Given the description of an element on the screen output the (x, y) to click on. 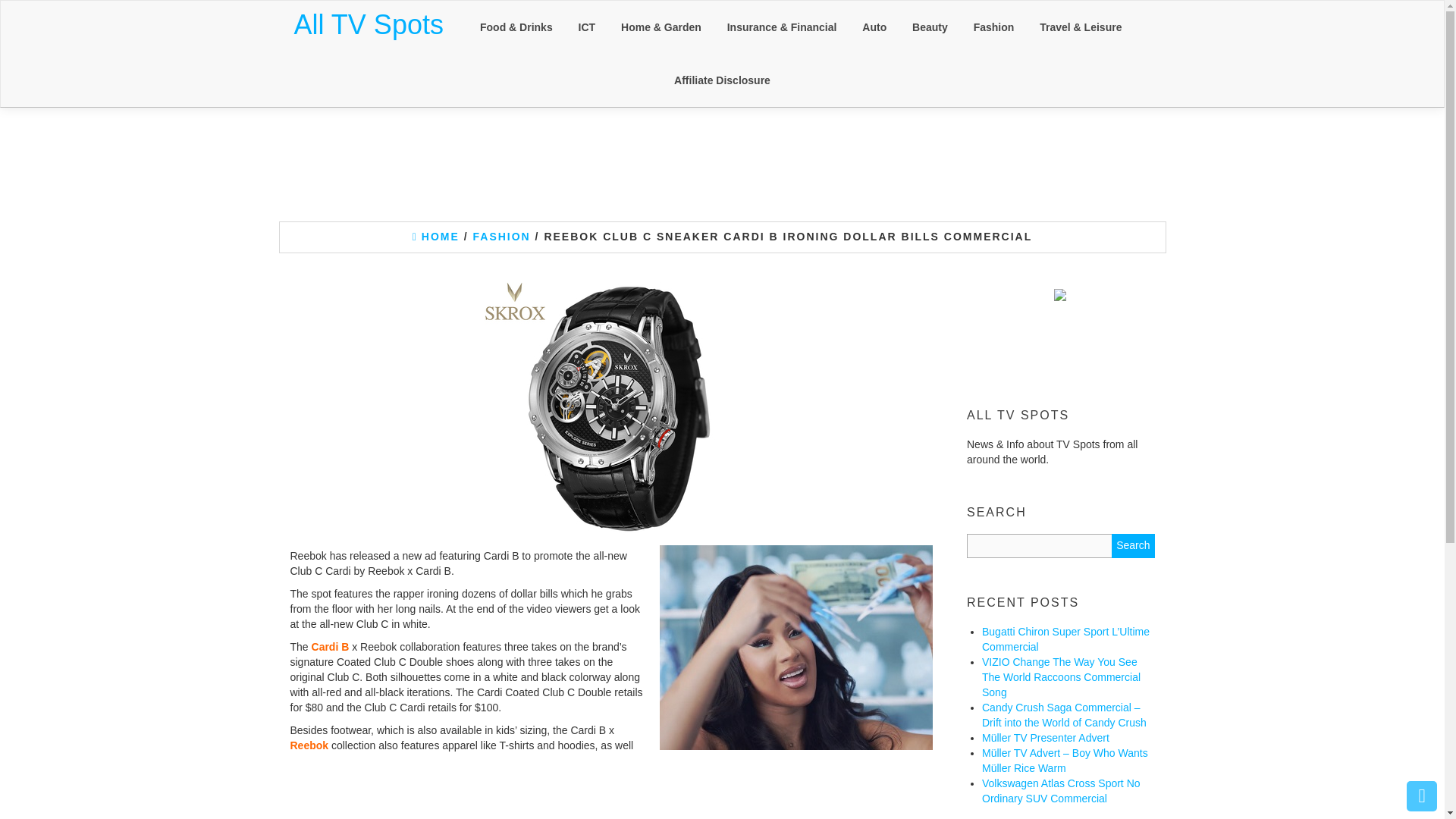
Volkswagen Atlas Cross Sport No Ordinary SUV Commercial (1060, 790)
Search (1133, 545)
Fashion (994, 27)
Cardi B (330, 646)
Search (1133, 545)
Beauty (930, 27)
All TV Spots (369, 24)
Affiliate Disclosure (721, 80)
HOME (436, 236)
Beauty (930, 27)
Fashion (994, 27)
All TV Spots (369, 24)
Reebok (309, 745)
Affiliate Disclosure (721, 80)
